Given the description of an element on the screen output the (x, y) to click on. 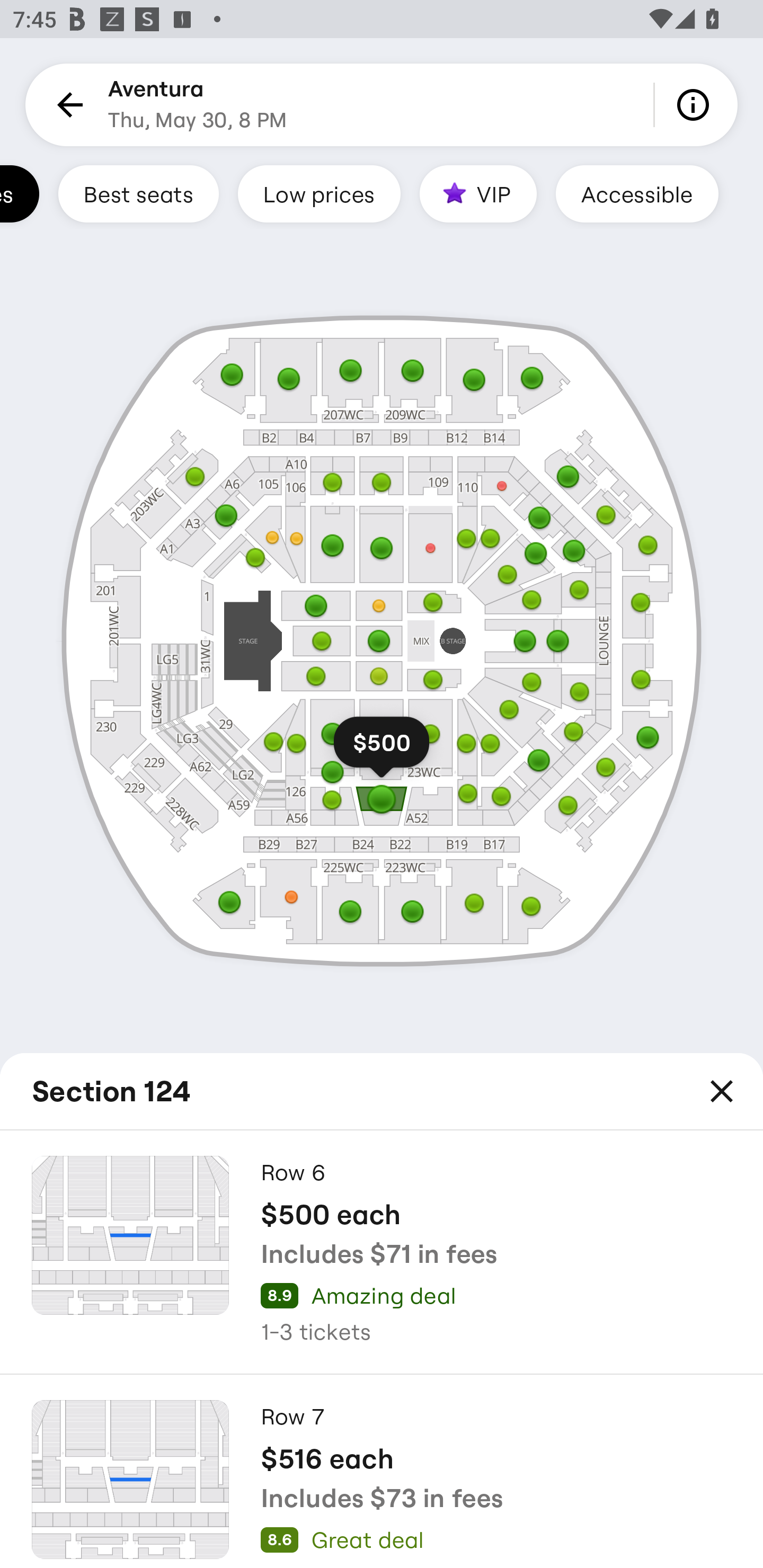
Back (66, 104)
Aventura Thu, May 30, 8 PM (197, 104)
Info (695, 104)
Best seats (137, 193)
Low prices (319, 193)
VIP (477, 193)
Accessible (636, 193)
$500 (381, 749)
Close (721, 1090)
